Given the description of an element on the screen output the (x, y) to click on. 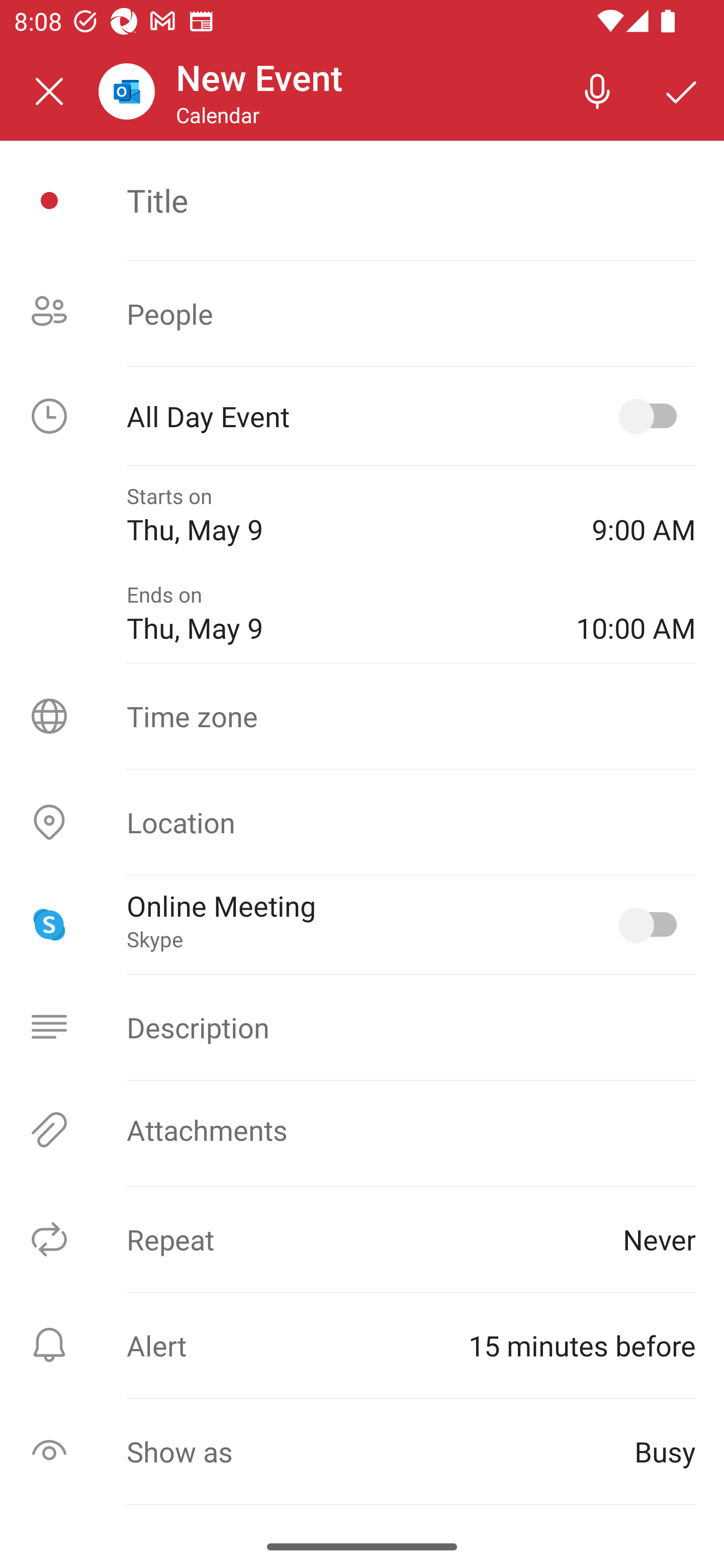
Close (49, 91)
Save (681, 90)
Title (410, 200)
Event icon picker (48, 200)
People (362, 313)
All Day Event (362, 415)
Starts on Thu, May 9 (344, 514)
9:00 AM (643, 514)
Ends on Thu, May 9 (336, 613)
10:00 AM (635, 613)
Time zone (362, 715)
Location (362, 821)
Online Meeting, Skype selected (651, 923)
Description (362, 1026)
Attachments (362, 1129)
Repeat Never (362, 1239)
Alert ⁨15 minutes before (362, 1345)
Show as Busy (362, 1450)
